Given the description of an element on the screen output the (x, y) to click on. 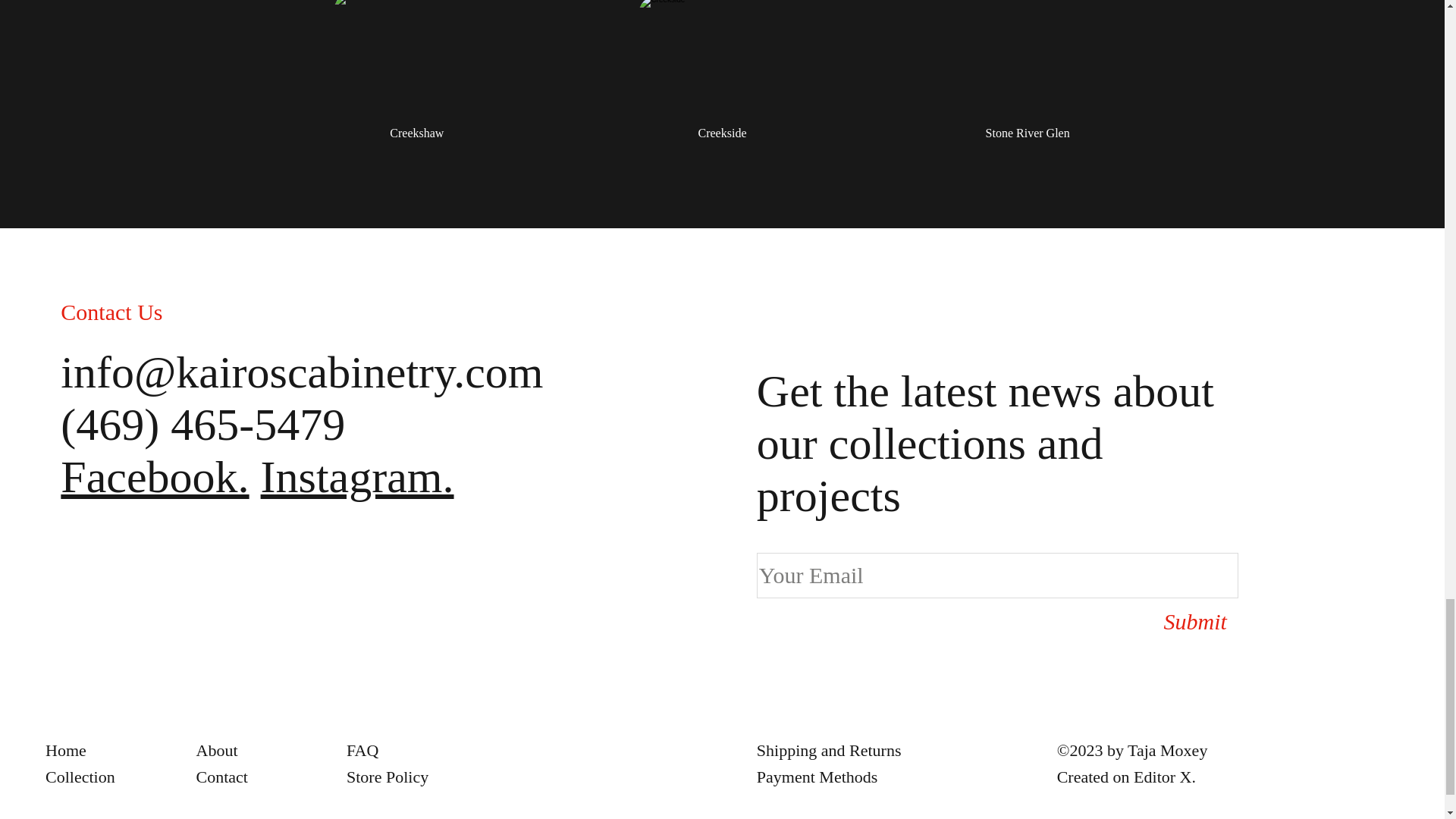
FAQ (362, 750)
About (216, 750)
Store Policy (387, 776)
Facebook. (154, 477)
Payment Methods (817, 776)
Shipping and Returns (829, 750)
Home (65, 750)
Instagram. (357, 477)
Submit (1166, 621)
Collection (80, 776)
Editor X. (1164, 776)
Contact (221, 776)
